Given the description of an element on the screen output the (x, y) to click on. 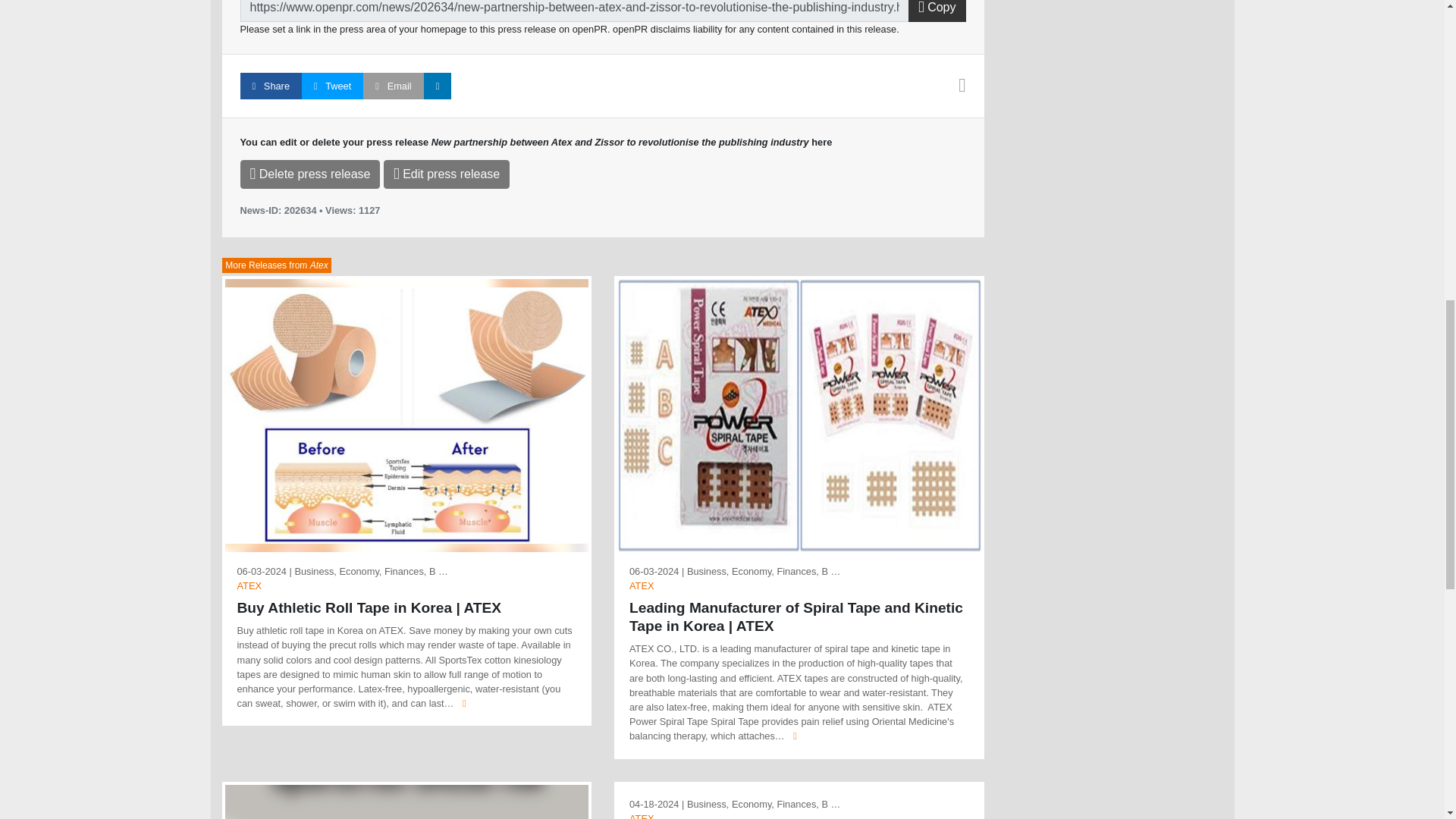
Facebook (270, 85)
LinkedIn (437, 85)
Permalink (574, 11)
Email (392, 85)
